Given the description of an element on the screen output the (x, y) to click on. 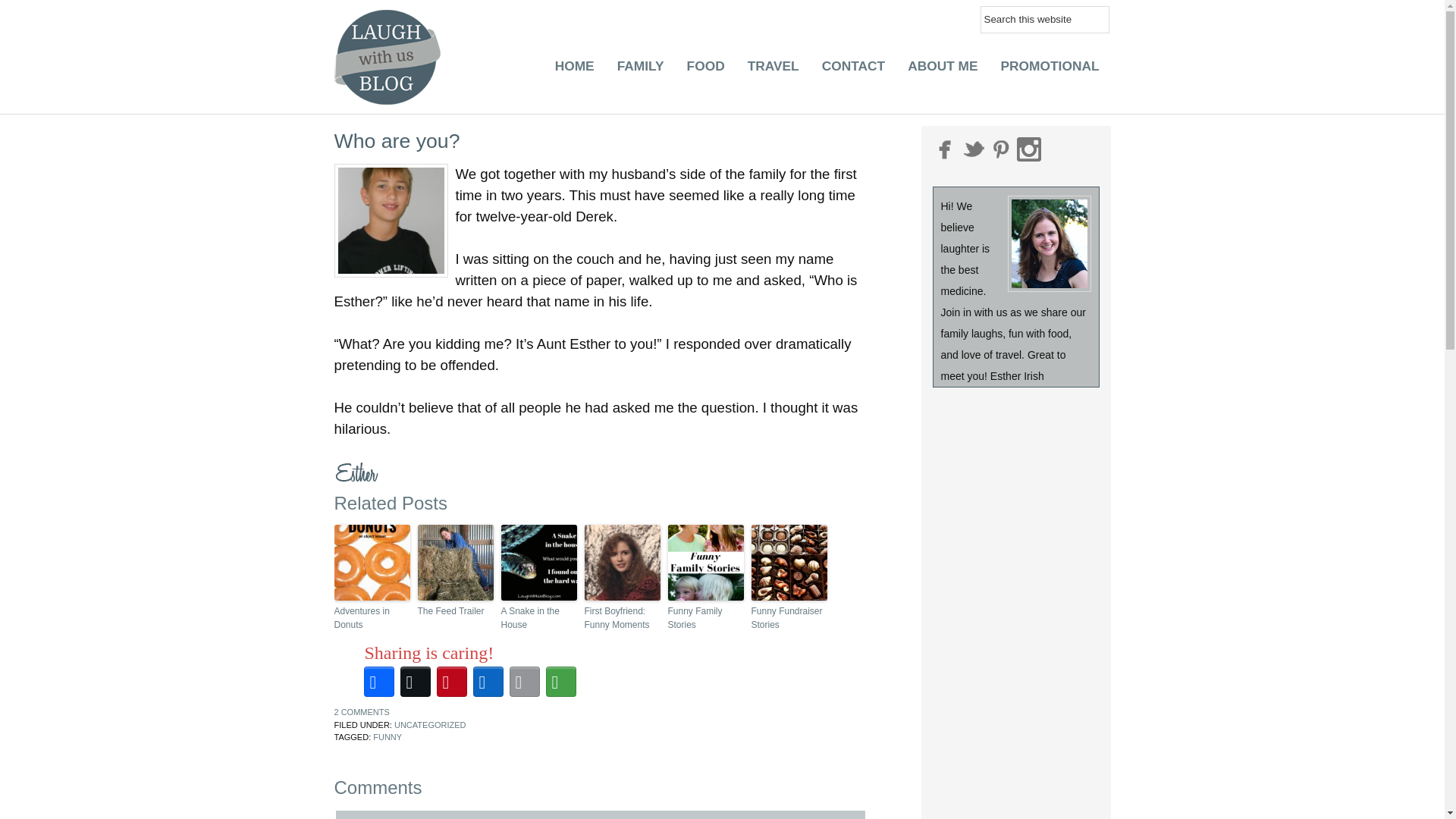
FOOD (705, 69)
More Options (561, 681)
PROMOTIONAL (1050, 69)
Laugh With Us Blog (389, 56)
LinkedIn (488, 681)
ABOUT ME (942, 69)
Facebook (379, 681)
FAMILY (640, 69)
CONTACT (853, 69)
Pinterest (451, 681)
Derek (389, 220)
HOME (574, 69)
